Given the description of an element on the screen output the (x, y) to click on. 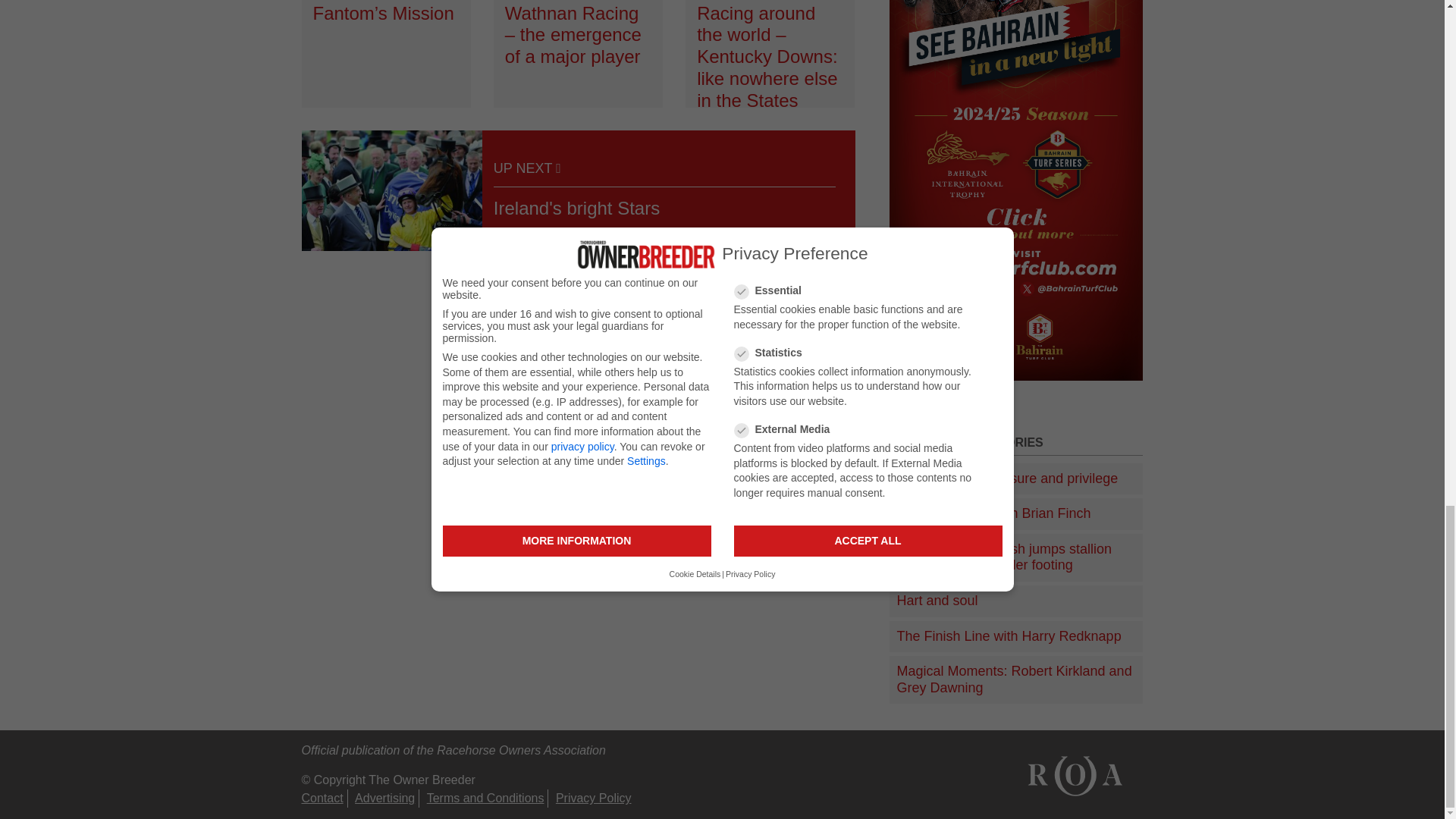
Roger Varian: pressure and privilege (1015, 478)
The Finish Line with Brian Finch (1015, 514)
